Given the description of an element on the screen output the (x, y) to click on. 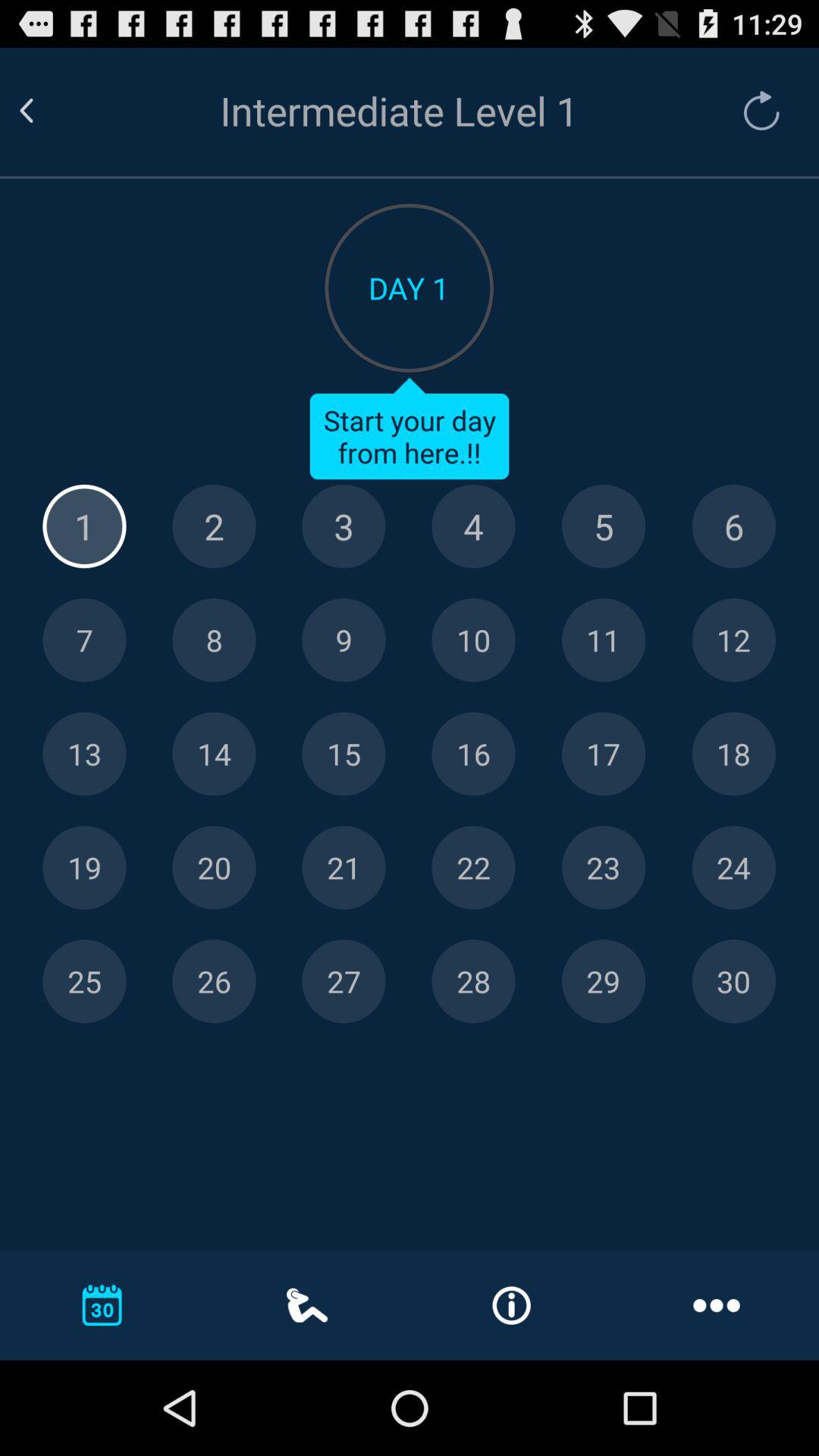
day 8 (213, 639)
